Given the description of an element on the screen output the (x, y) to click on. 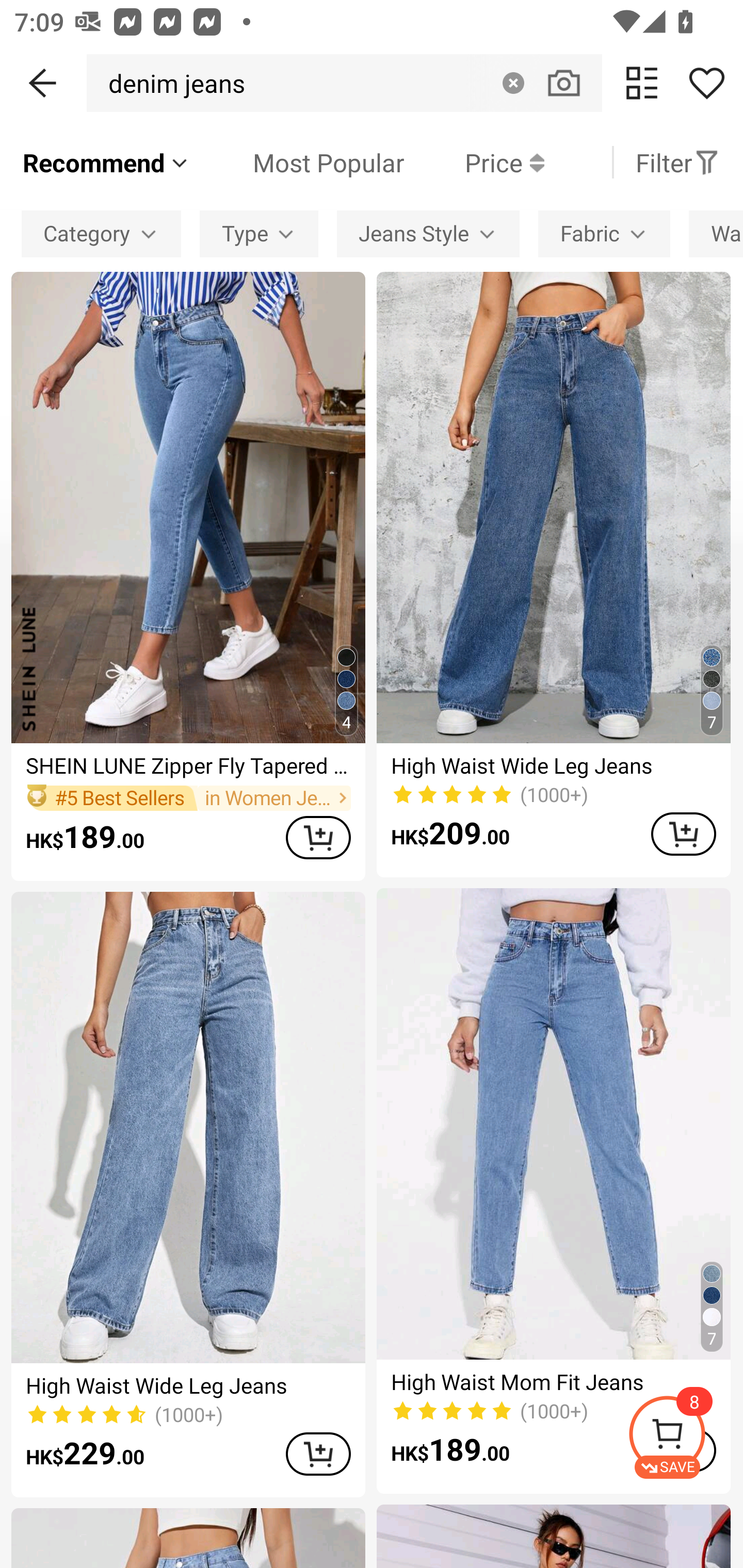
denim jeans Clear (343, 82)
denim jeans (170, 82)
Clear (513, 82)
change view (641, 82)
Share (706, 82)
Recommend (106, 162)
Most Popular (297, 162)
Price (474, 162)
Filter (677, 162)
Category (101, 233)
Type (258, 233)
Jeans Style (427, 233)
Fabric (603, 233)
#5 Best Sellers in Women Jeans (188, 798)
ADD TO CART (683, 834)
ADD TO CART (318, 837)
SAVE (685, 1436)
ADD TO CART (318, 1453)
